Given the description of an element on the screen output the (x, y) to click on. 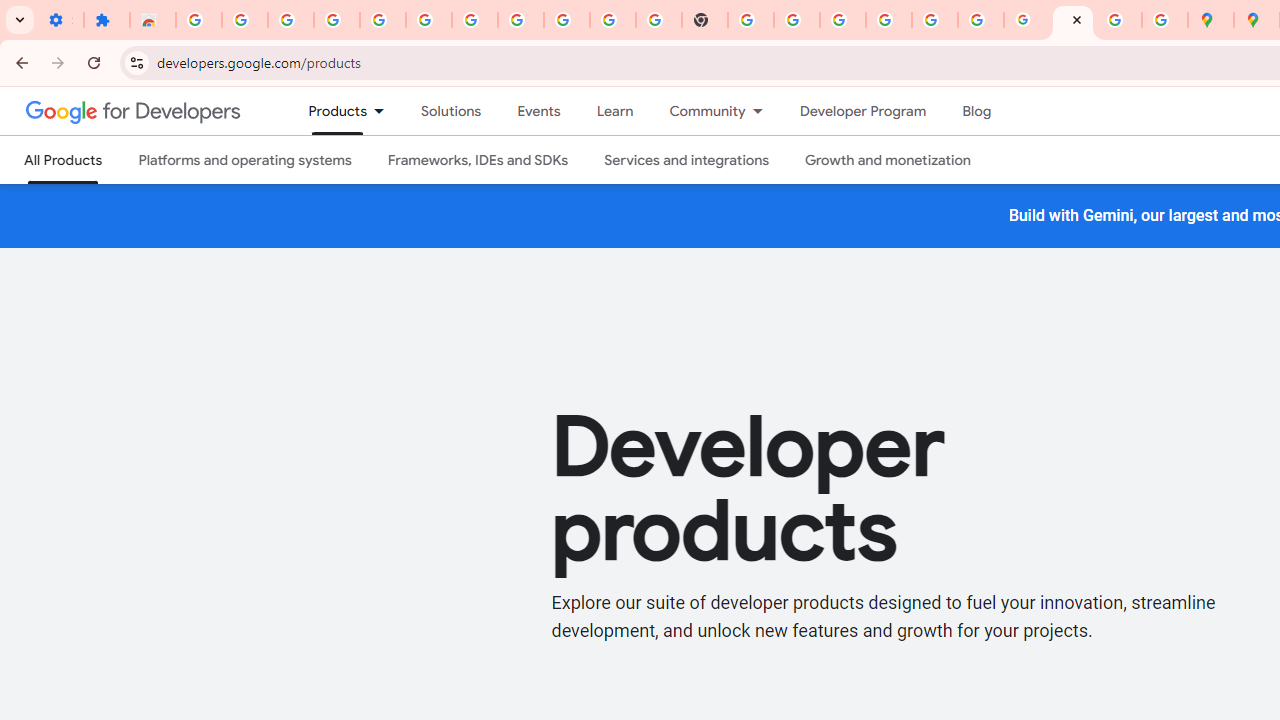
Events (538, 111)
